Given the description of an element on the screen output the (x, y) to click on. 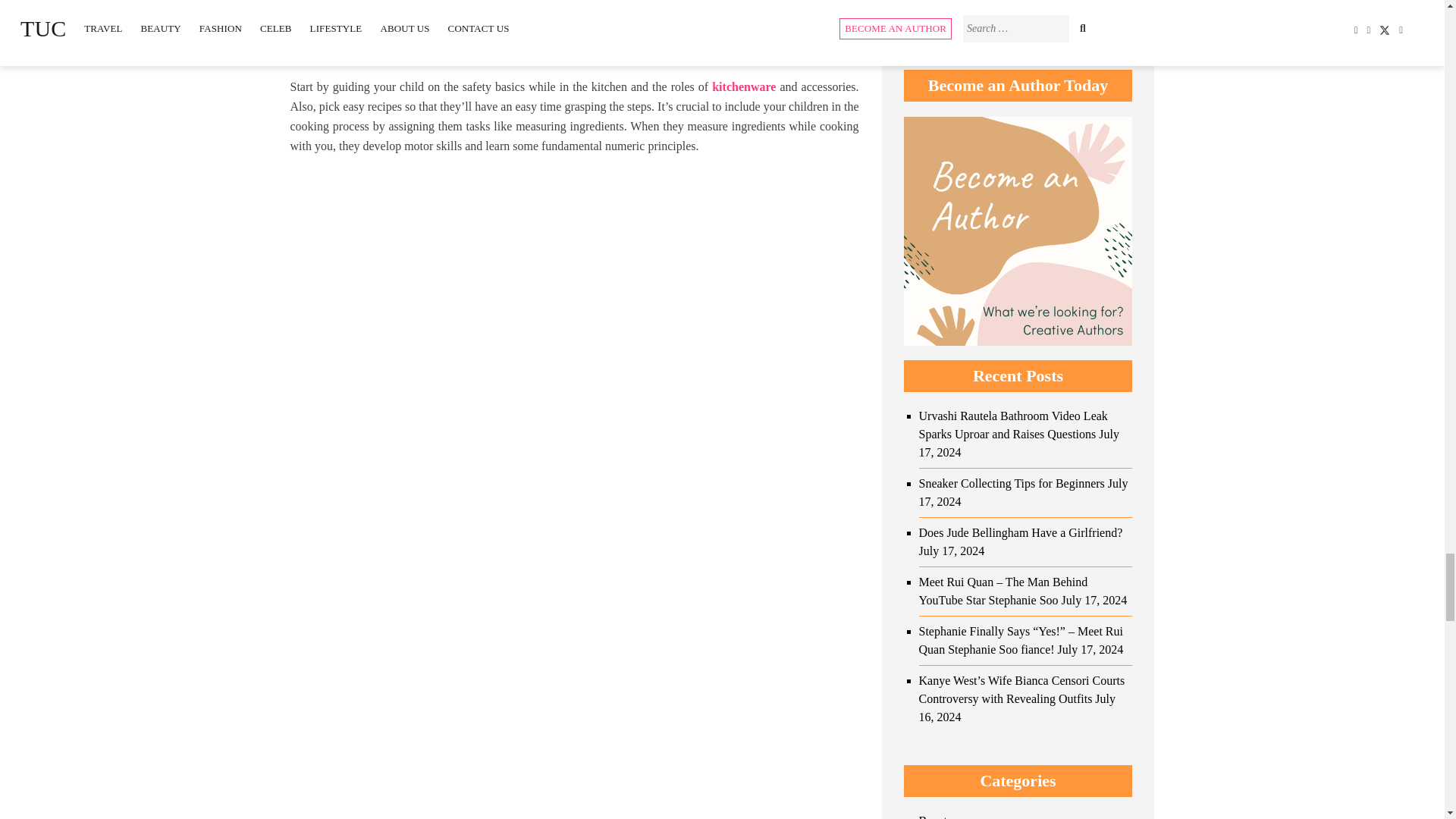
kitchenware (743, 86)
